Given the description of an element on the screen output the (x, y) to click on. 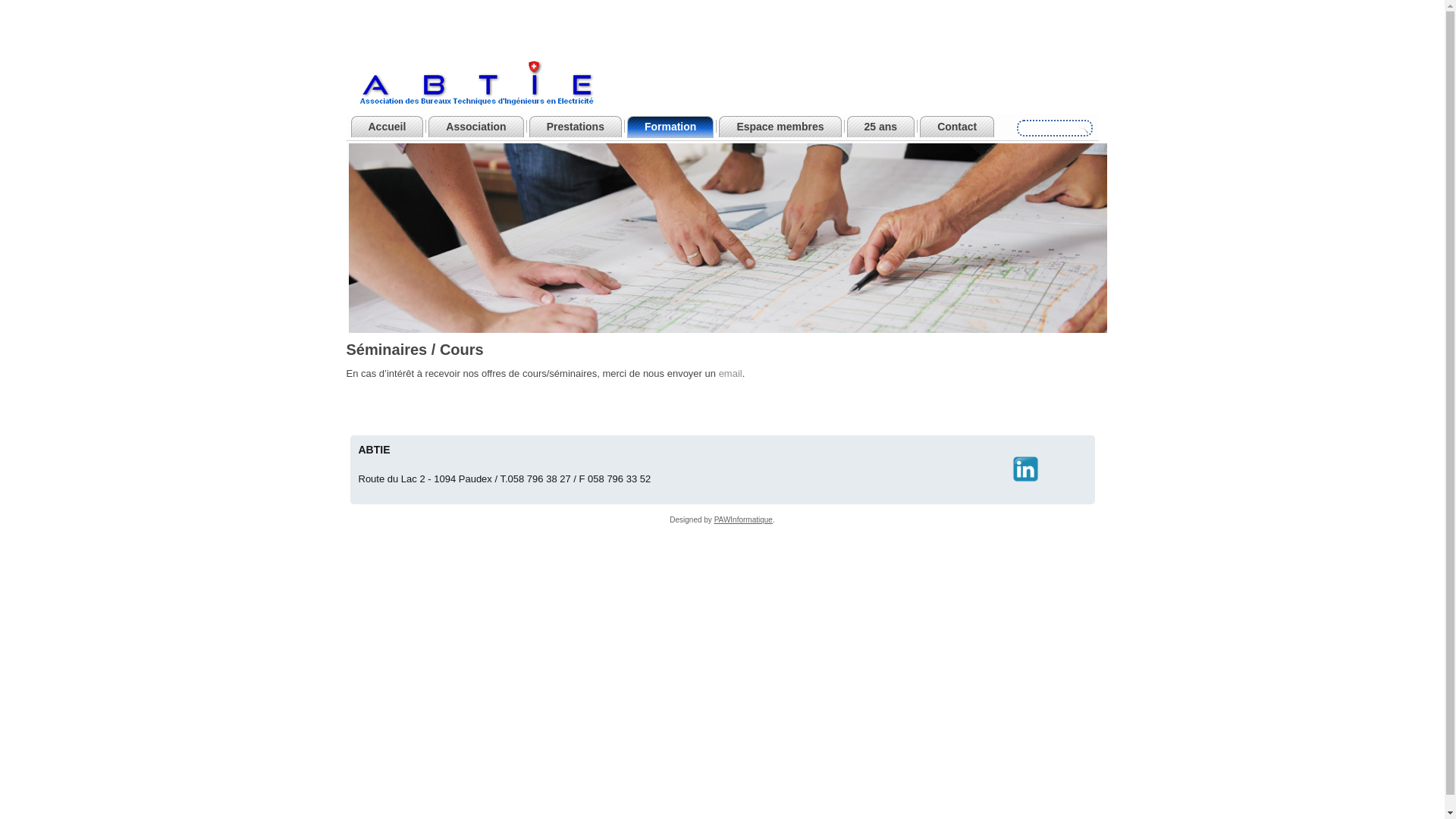
Espace membres Element type: text (779, 126)
Contact Element type: text (956, 126)
Prestations Element type: text (575, 126)
25 ans Element type: text (881, 126)
Accueil Element type: text (386, 126)
PAWInformatique Element type: text (743, 519)
Formation Element type: text (670, 127)
Association Element type: text (475, 126)
email Element type: text (730, 373)
